Given the description of an element on the screen output the (x, y) to click on. 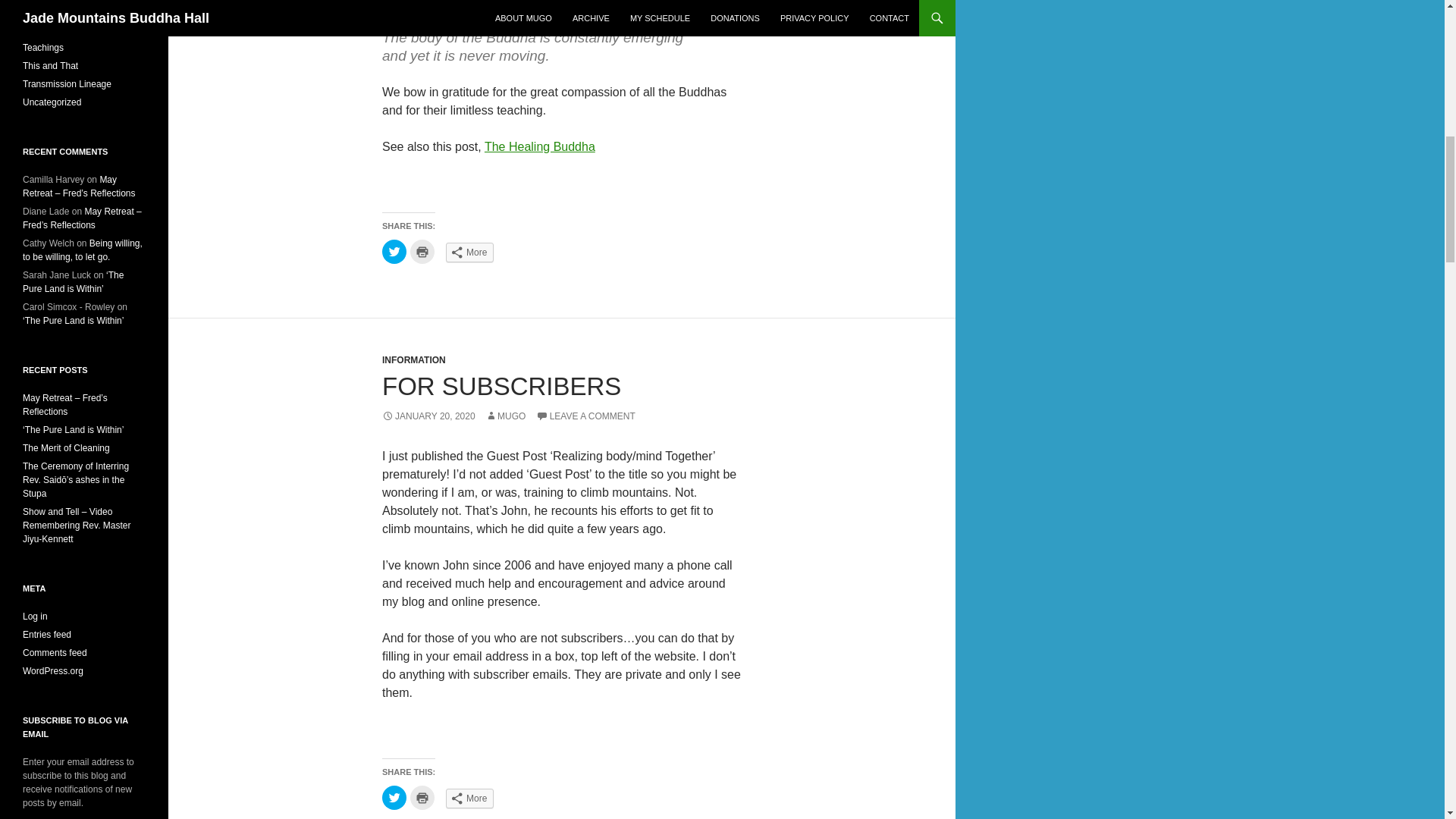
Click to share on Twitter (393, 251)
Click to share on Twitter (393, 797)
JANUARY 20, 2020 (428, 416)
More (469, 252)
More (469, 798)
INFORMATION (413, 359)
Click to print (421, 797)
LEAVE A COMMENT (584, 416)
MUGO (504, 416)
FOR SUBSCRIBERS (501, 386)
The Healing Buddha (539, 146)
Click to print (421, 251)
